Given the description of an element on the screen output the (x, y) to click on. 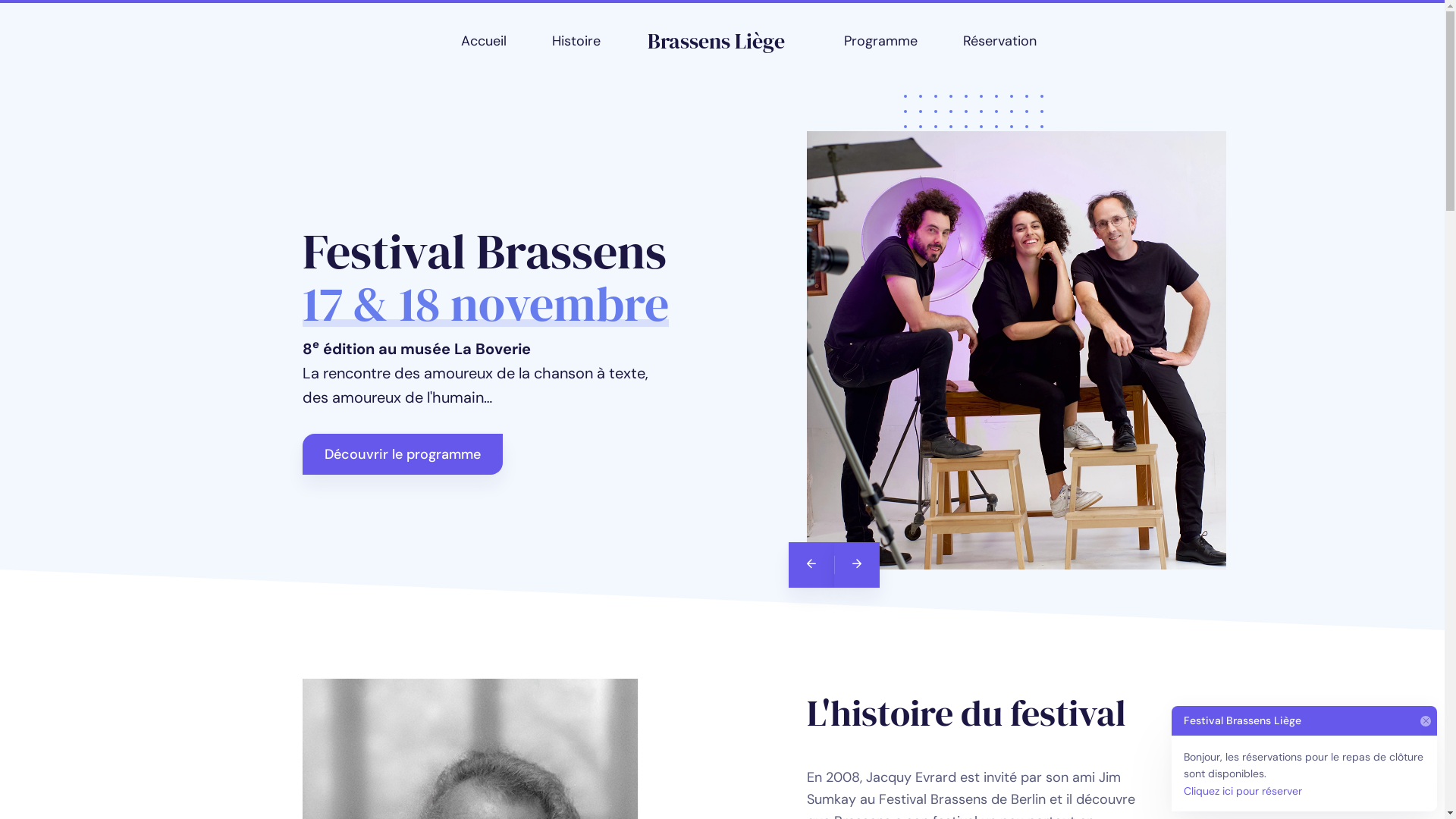
Accueil Element type: text (483, 41)
Programme Element type: text (880, 41)
Histoire Element type: text (576, 41)
